Given the description of an element on the screen output the (x, y) to click on. 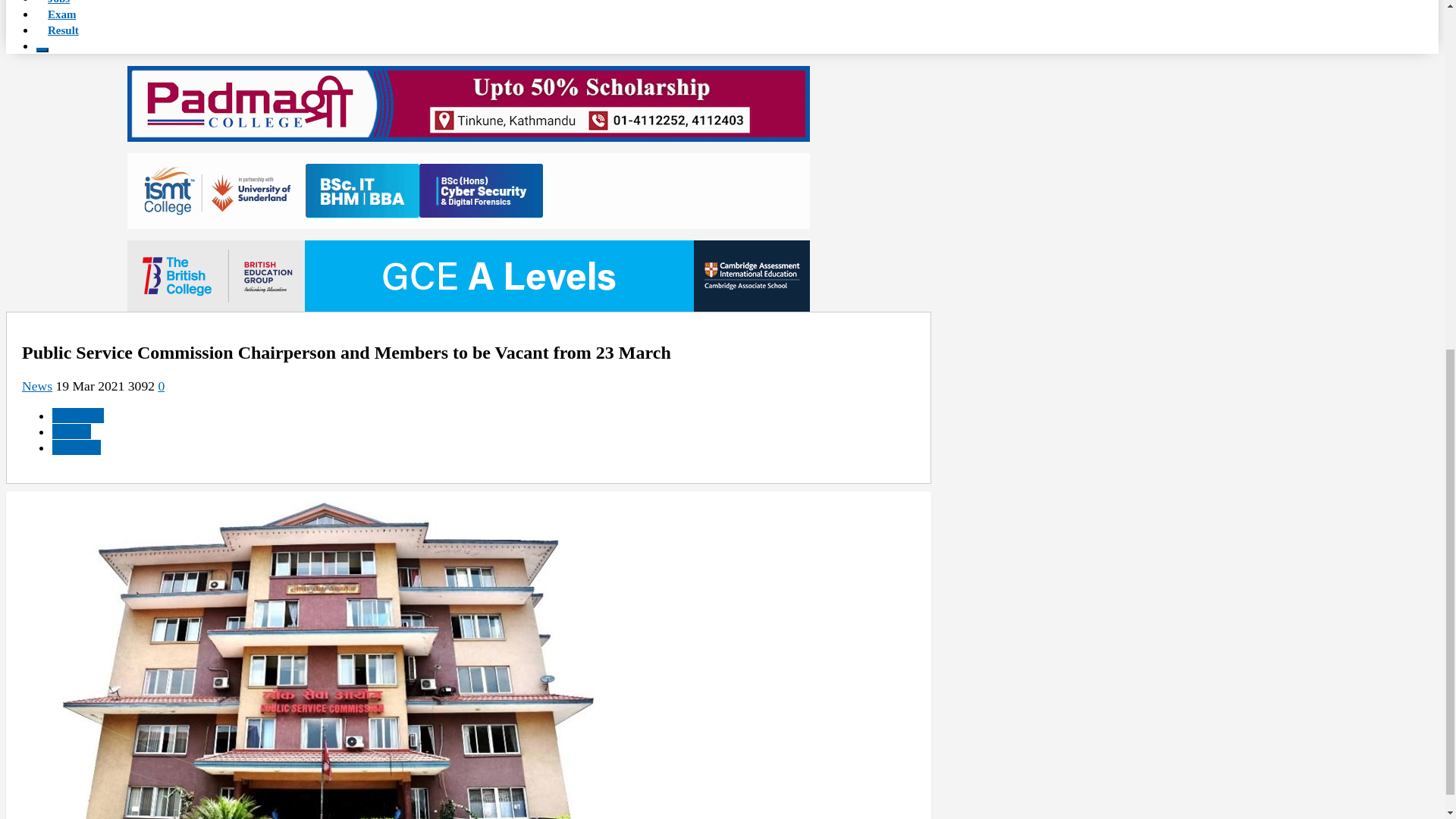
Twitter (71, 431)
Result (63, 30)
Exam (61, 14)
Jobs (58, 4)
News (36, 385)
Linkedin (76, 447)
Facebook (77, 415)
